Given the description of an element on the screen output the (x, y) to click on. 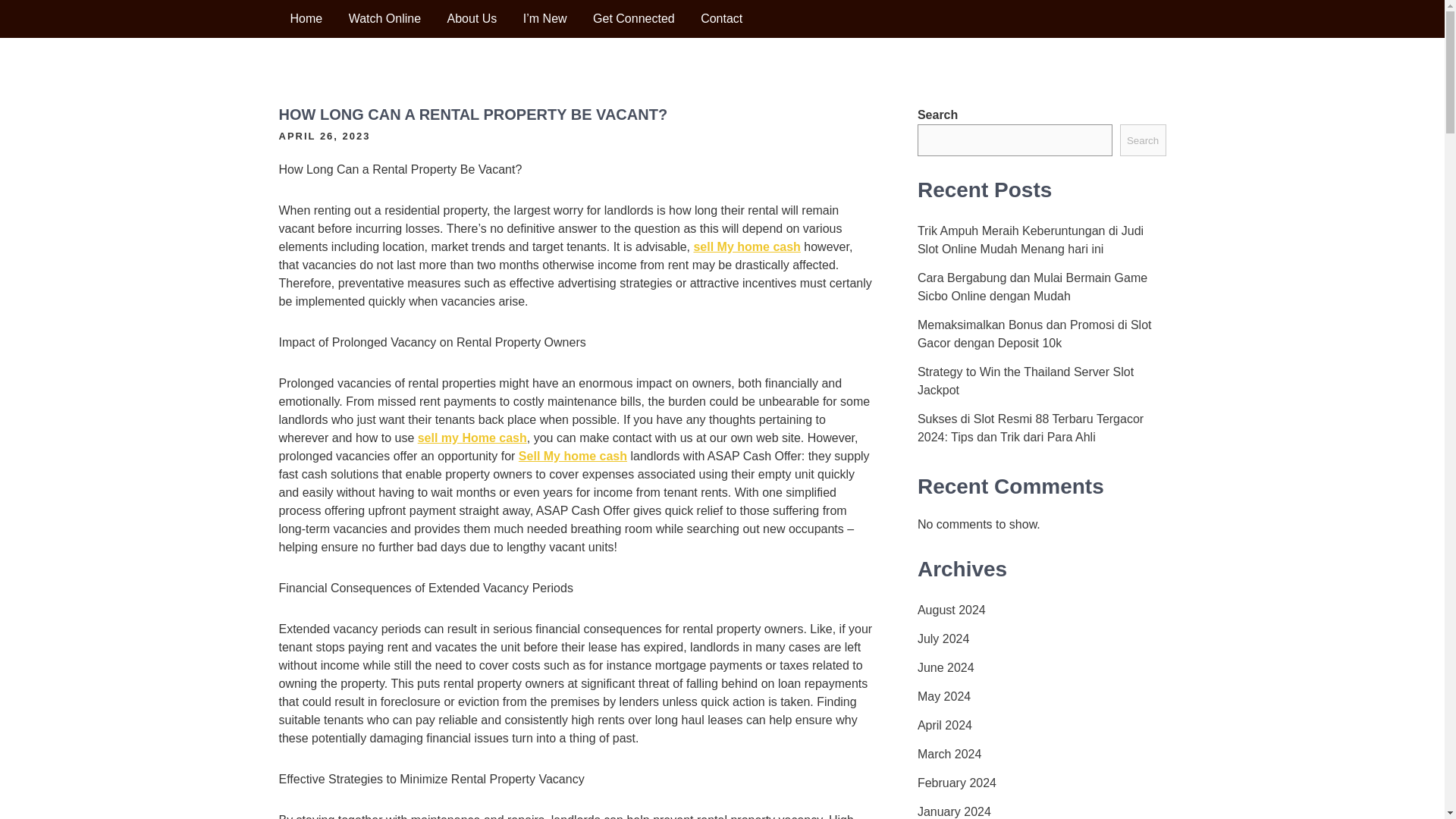
Get Connected (632, 18)
Search (1142, 140)
August 2024 (951, 610)
Sell My home cash (572, 455)
July 2024 (943, 638)
March 2024 (949, 754)
May 2024 (944, 696)
Contact (721, 18)
